Given the description of an element on the screen output the (x, y) to click on. 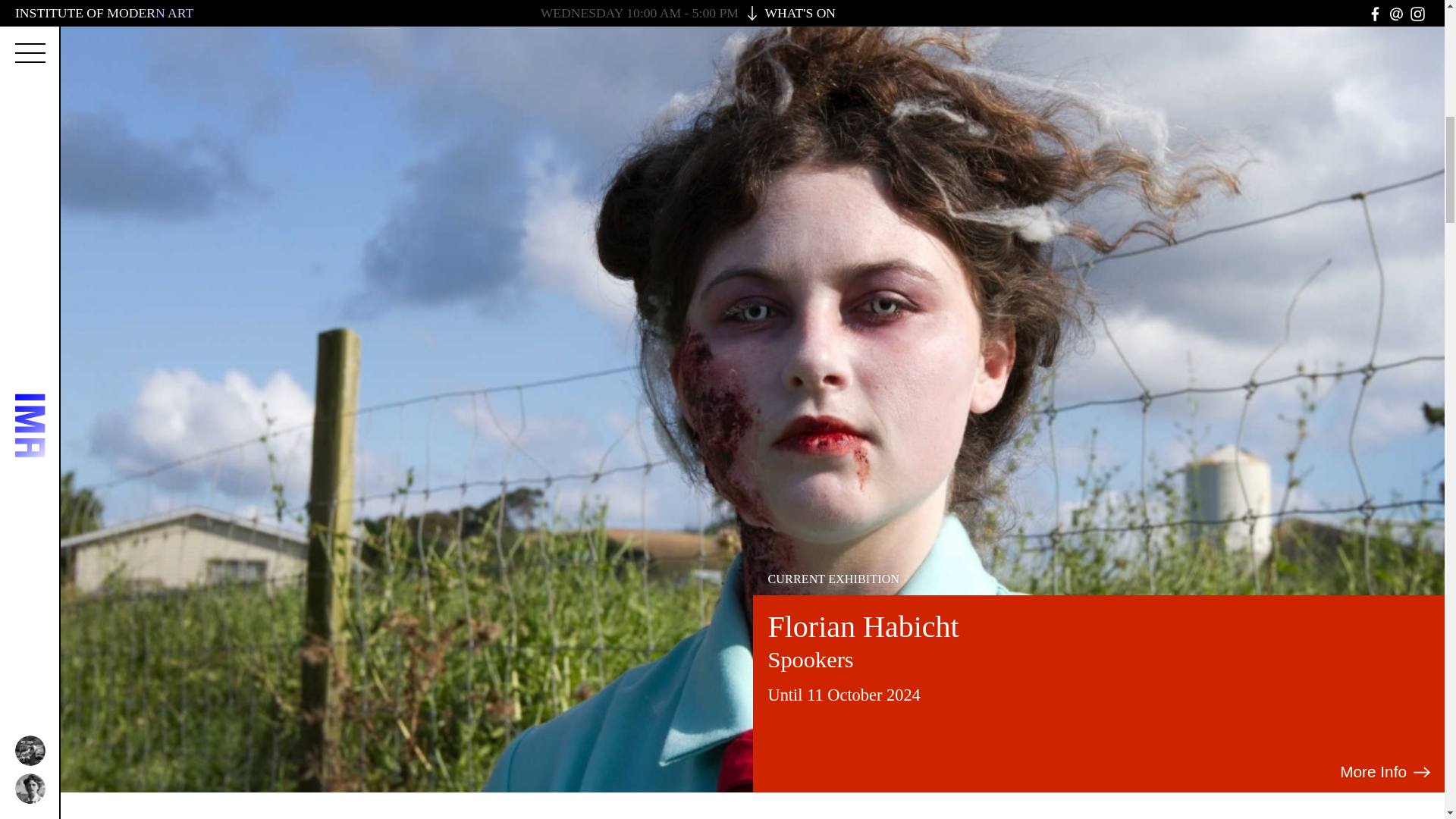
Florian Habicht (862, 626)
More Info (1385, 771)
